Given the description of an element on the screen output the (x, y) to click on. 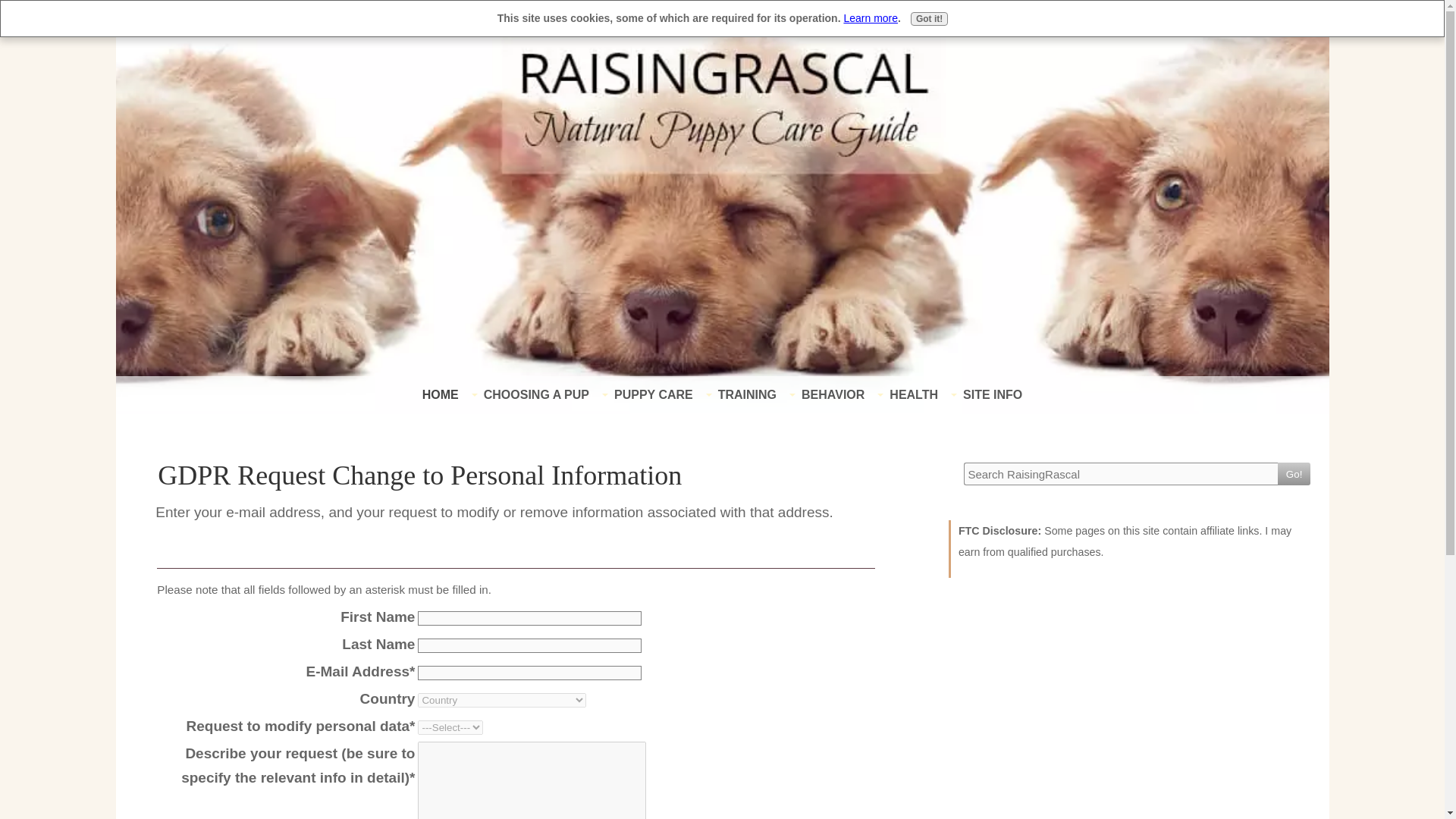
Got it! (929, 18)
Go! (1294, 473)
Home (721, 82)
Learn more (870, 18)
HOME (440, 394)
